Given the description of an element on the screen output the (x, y) to click on. 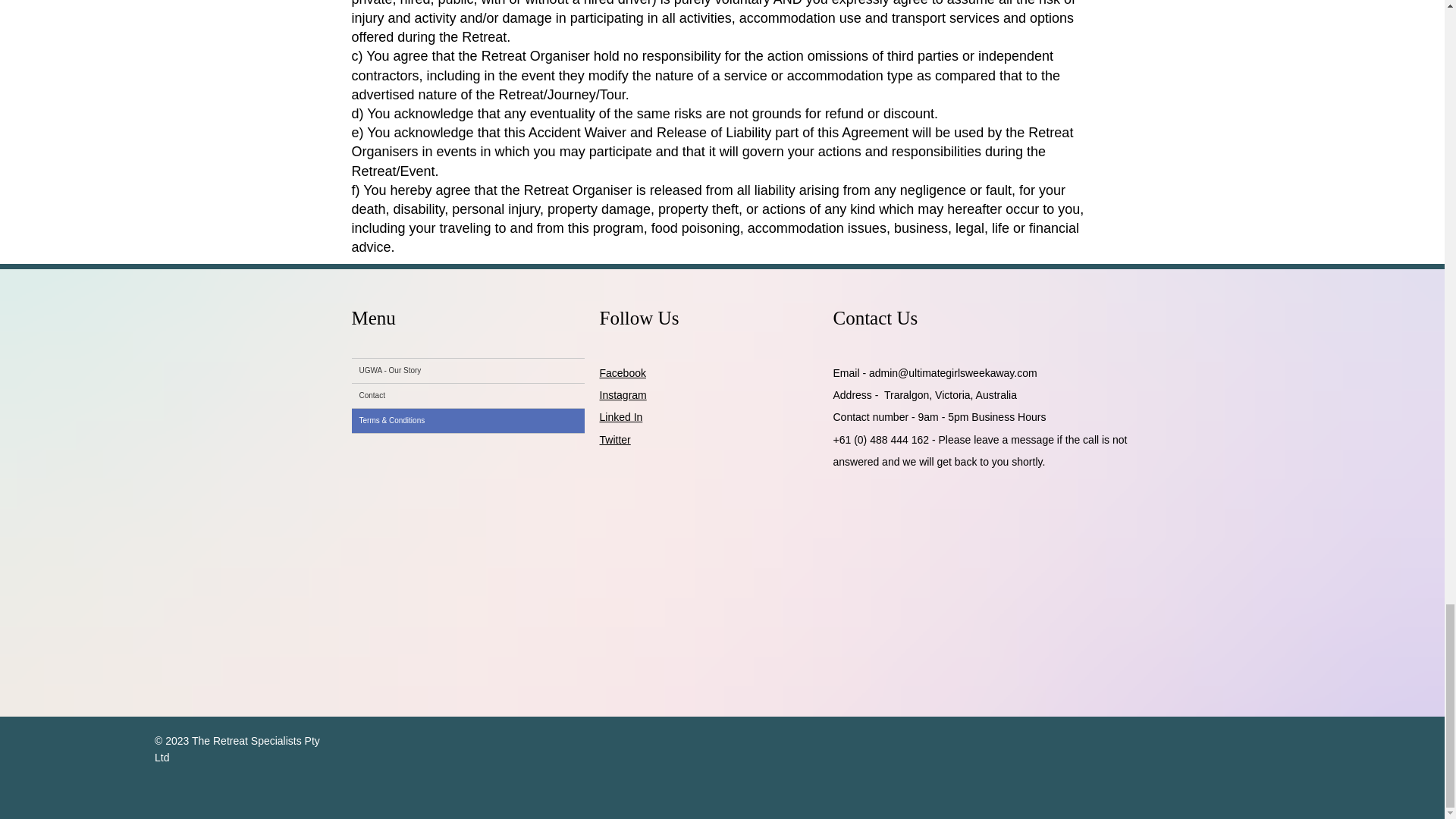
Instagram (622, 395)
Contact (468, 395)
UGWA - Our Story (468, 370)
Twitter (614, 439)
Facebook (621, 372)
Linked In (620, 417)
